Given the description of an element on the screen output the (x, y) to click on. 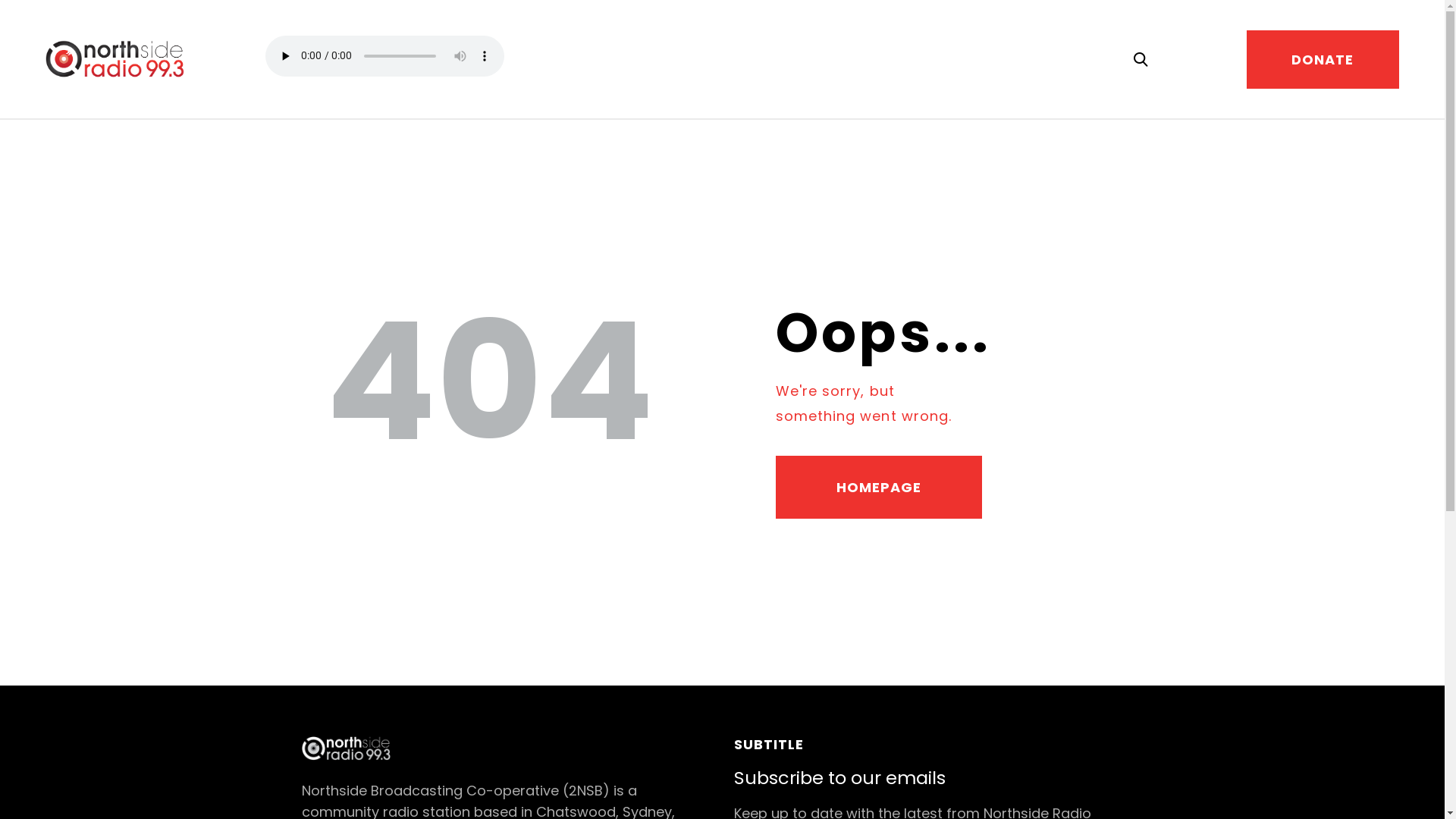
HOMEPAGE Element type: text (878, 487)
DONATE Element type: text (1322, 59)
